Given the description of an element on the screen output the (x, y) to click on. 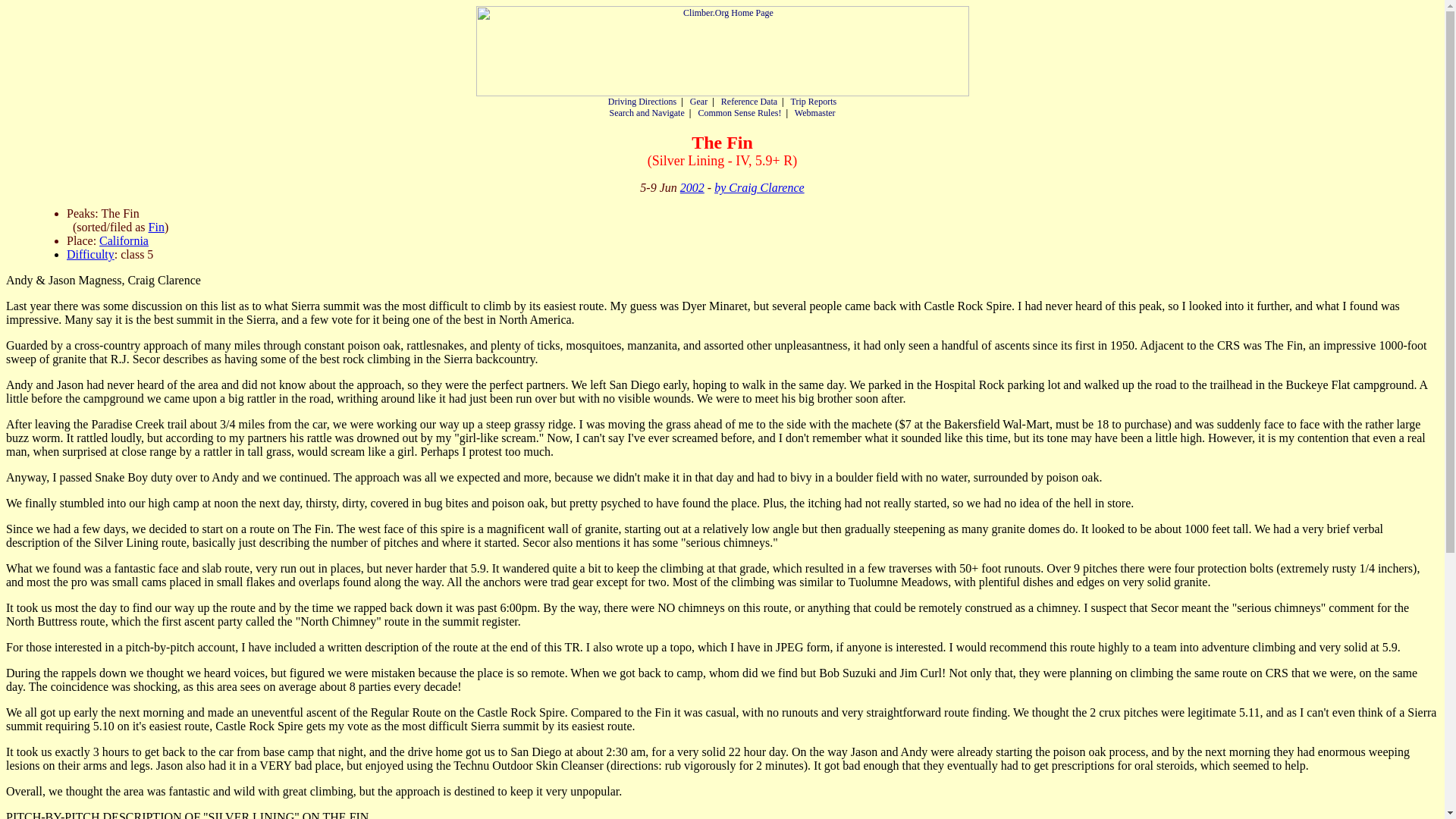
Difficulty (90, 254)
Driving Directions (642, 101)
2002 (691, 187)
Search and Navigate (646, 112)
Fin (156, 226)
Reference Data (748, 101)
by Craig Clarence (759, 187)
California (123, 240)
Climber.Org Home Page (722, 50)
Webmaster (814, 112)
Common Sense Rules! (738, 112)
Trip Reports (813, 101)
Gear (698, 101)
